Given the description of an element on the screen output the (x, y) to click on. 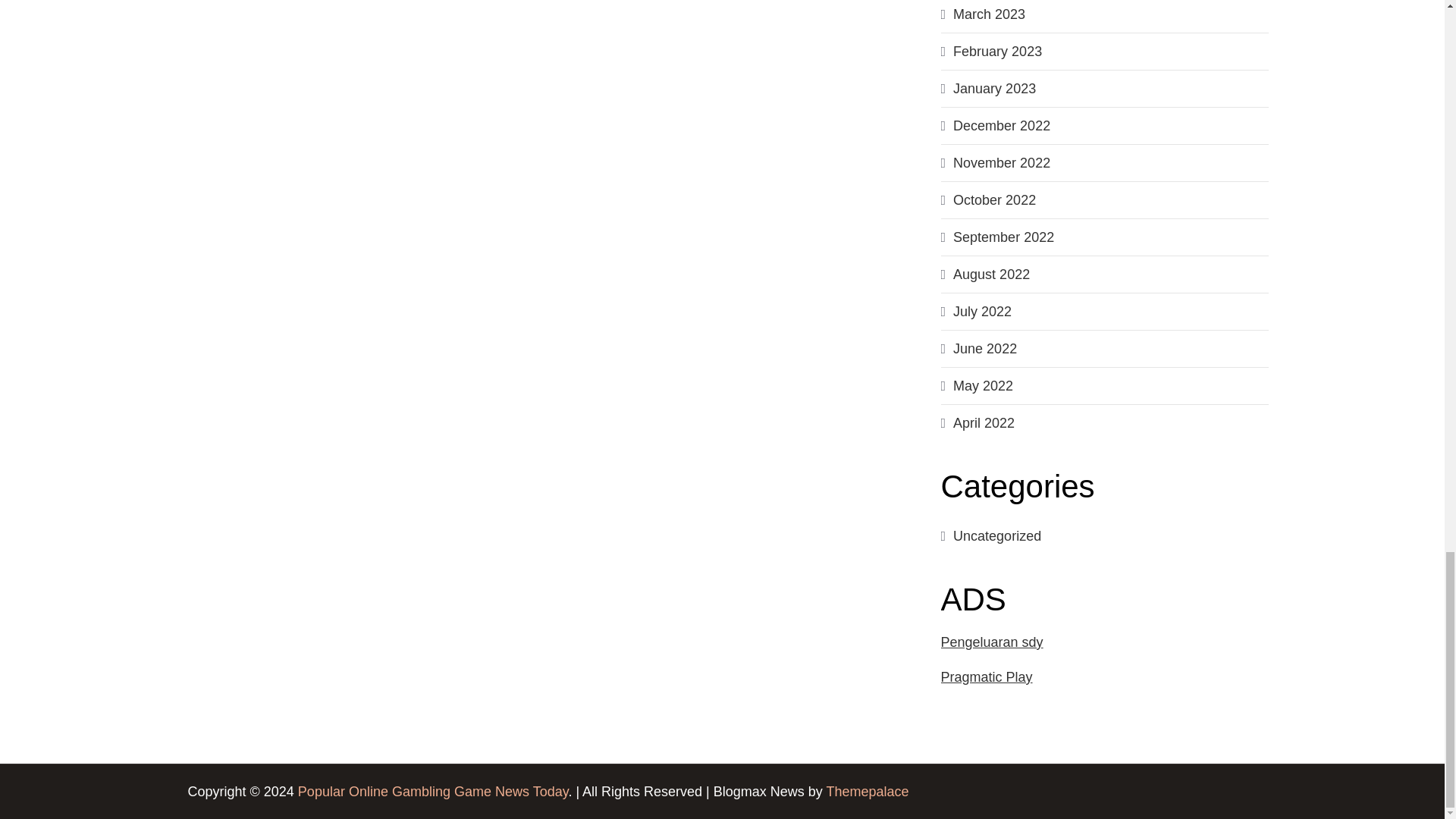
January 2023 (994, 88)
February 2023 (997, 51)
November 2022 (1001, 162)
March 2023 (989, 14)
December 2022 (1001, 125)
